Given the description of an element on the screen output the (x, y) to click on. 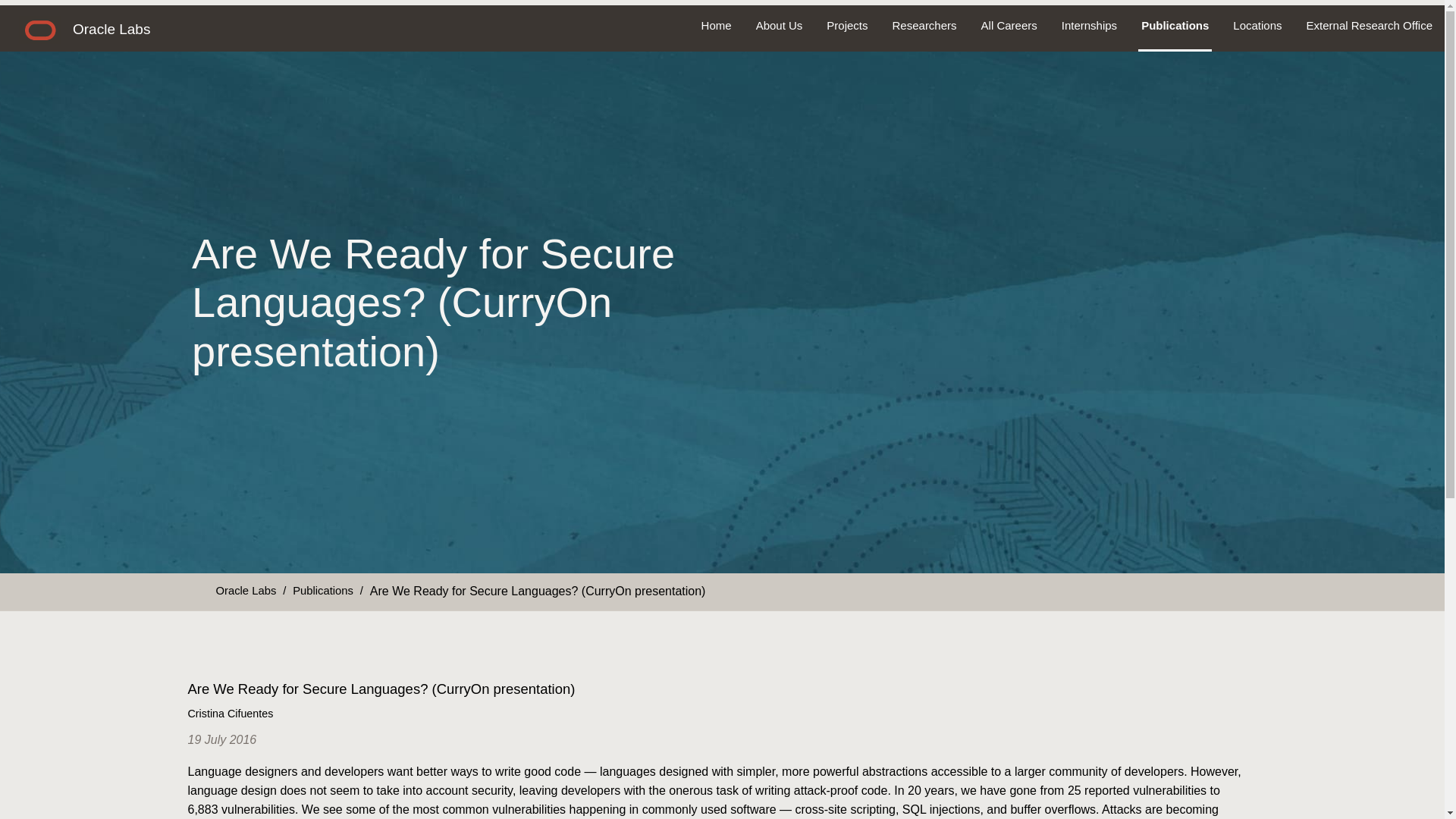
About Us (779, 25)
Researchers (924, 25)
Internships (1089, 25)
Publications (1175, 25)
Publications (322, 590)
Home (716, 25)
Projects (846, 25)
Locations (1257, 25)
Oracle Labs (245, 590)
All Careers (1009, 25)
Oracle Labs (111, 29)
